Given the description of an element on the screen output the (x, y) to click on. 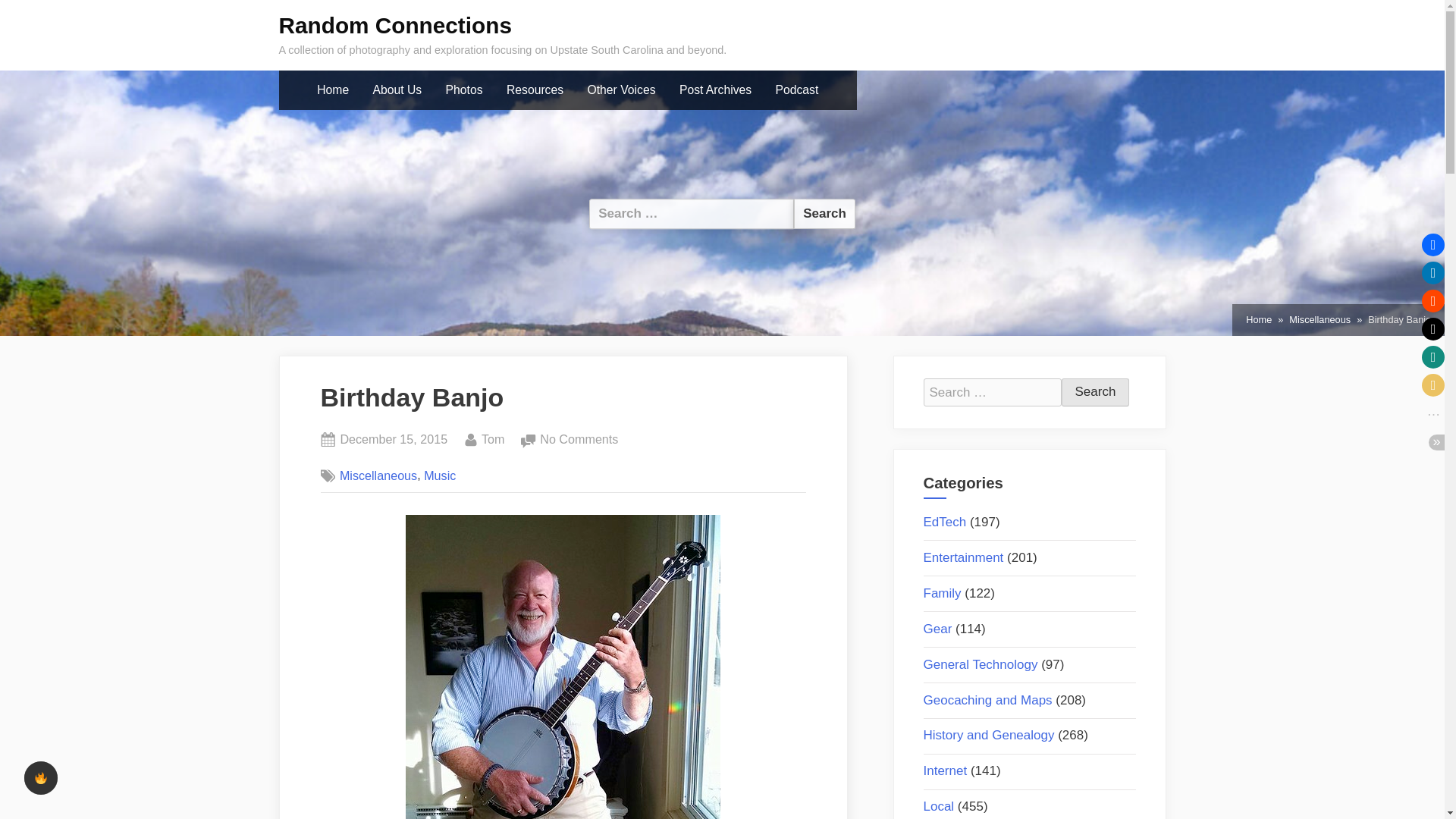
Other Voices (621, 90)
Search (1095, 392)
Family (941, 593)
Random Connections (395, 25)
Search (824, 214)
Search (1095, 392)
Entertainment (963, 557)
Local (939, 806)
EdTech (493, 439)
Search (944, 522)
Miscellaneous (824, 214)
Music (1319, 320)
Podcast (392, 439)
